Given the description of an element on the screen output the (x, y) to click on. 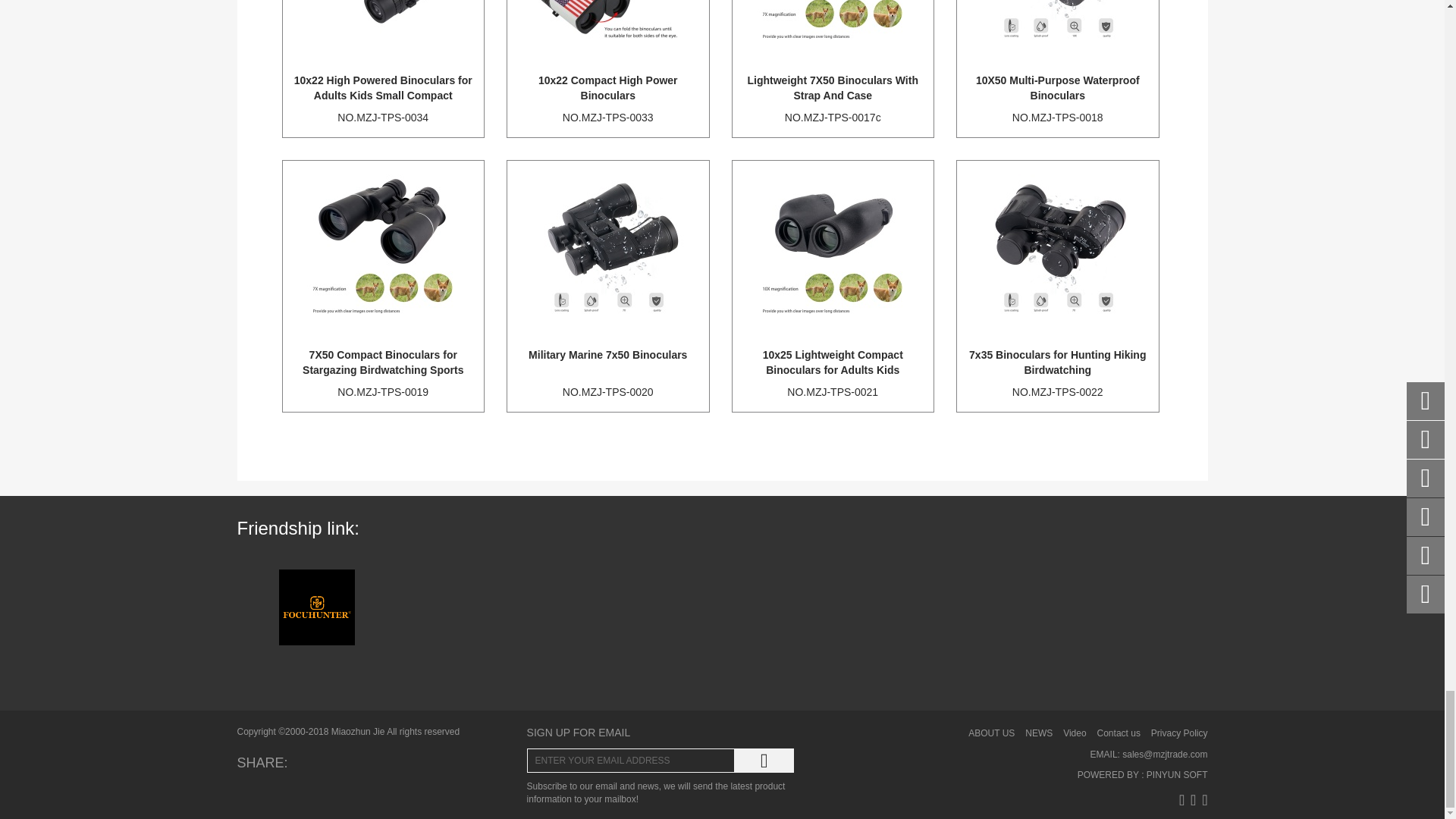
ENTER YOUR EMAIL ADDRESS (631, 760)
